Given the description of an element on the screen output the (x, y) to click on. 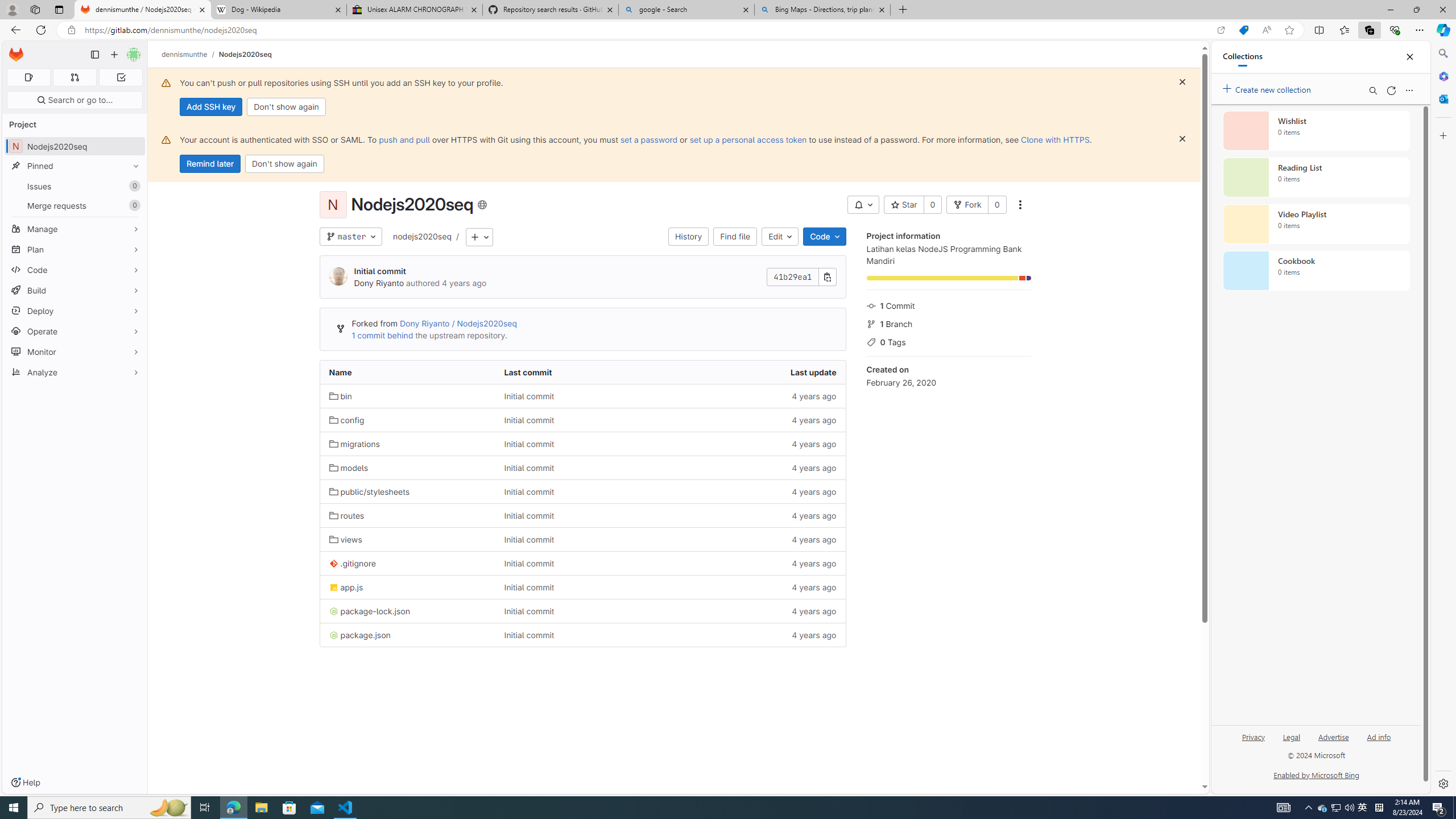
Favorites (1344, 29)
Build (74, 289)
AutomationID: __BVID__372__BV_toggle_ (863, 204)
Wishlist collection, 0 items (1316, 130)
Microsoft 365 (1442, 76)
Personal Profile (12, 9)
Pinned (74, 165)
migrations (407, 443)
Outlook (1442, 98)
Customize (1442, 135)
App bar (728, 29)
Help (25, 782)
master (349, 236)
